Given the description of an element on the screen output the (x, y) to click on. 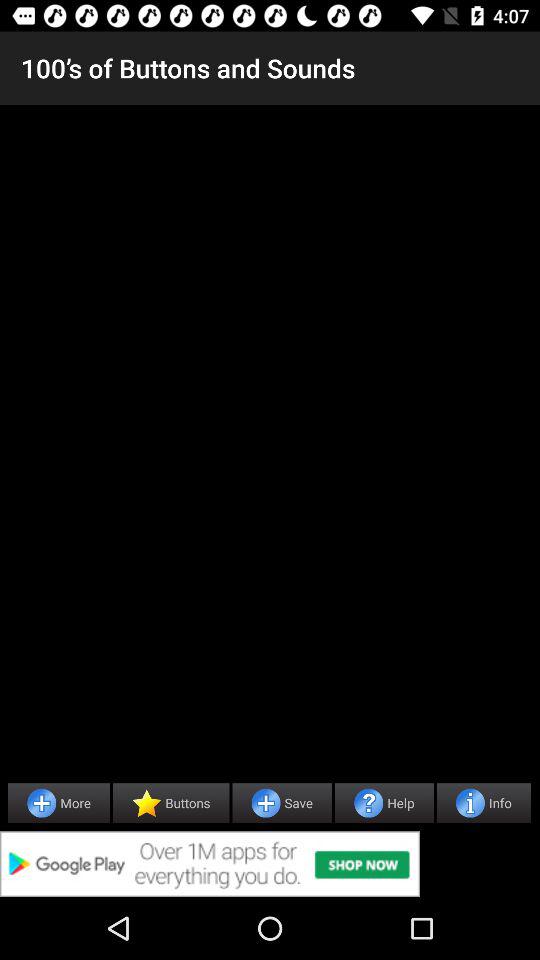
advertisement page (270, 864)
